Given the description of an element on the screen output the (x, y) to click on. 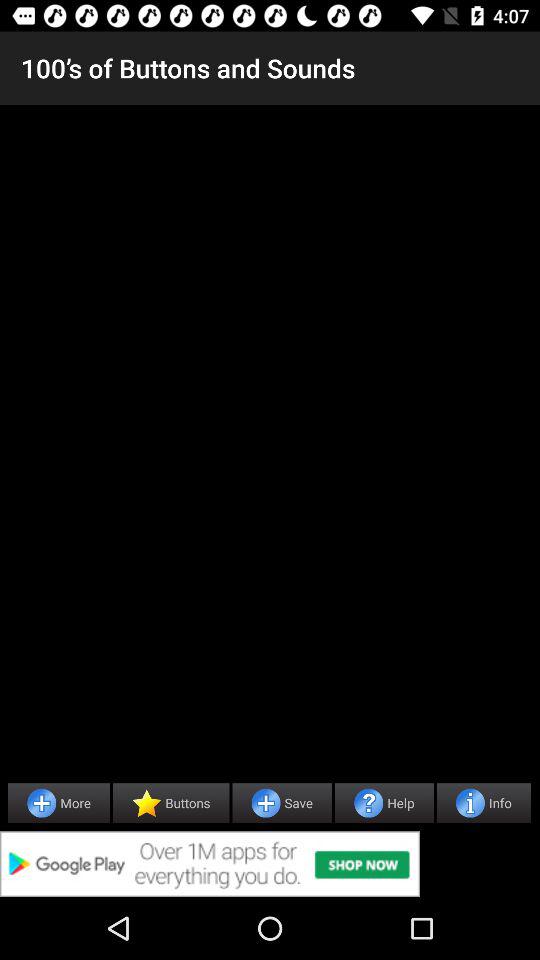
advertisement page (270, 864)
